Given the description of an element on the screen output the (x, y) to click on. 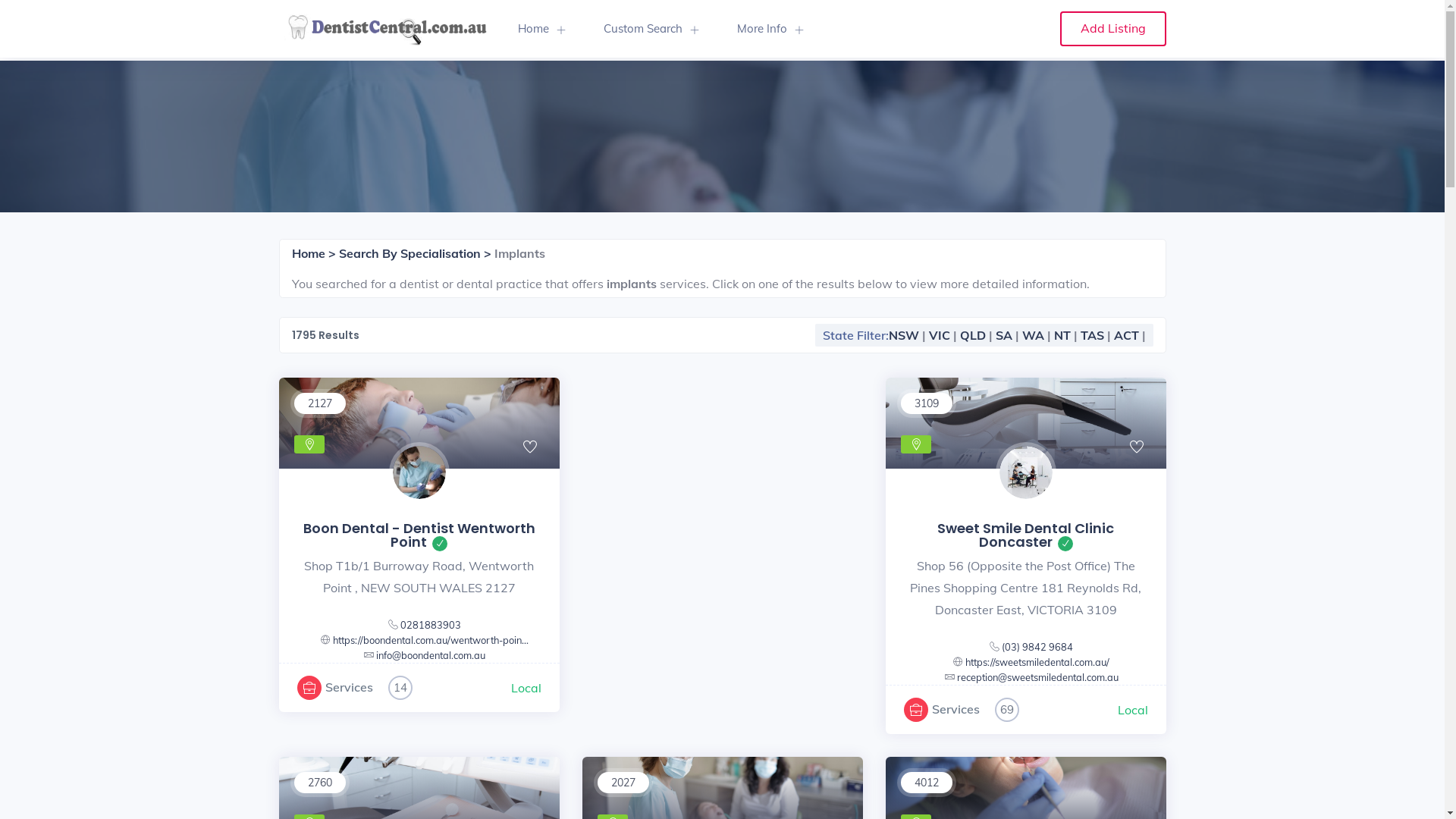
Sweet Smile Dental Clinic Doncaster Element type: text (1025, 534)
More Info Element type: text (769, 28)
reception@sweetsmiledental.com.au Element type: text (1037, 677)
0281883903 Element type: text (430, 624)
Add Listing Element type: text (1113, 28)
SA Element type: text (1002, 334)
(03) 9842 9684 Element type: text (1037, 646)
Home Element type: text (541, 28)
https://boondental.com.au/wentworth-poin... Element type: text (430, 639)
Advertisement Element type: hover (722, 483)
info@boondental.com.au Element type: text (430, 655)
Custom Search Element type: text (650, 28)
https://sweetsmiledental.com.au/ Element type: text (1037, 661)
QLD Element type: text (972, 334)
Services Element type: text (348, 686)
Search By Specialisation > Element type: text (414, 252)
Home > Element type: text (314, 252)
NSW Element type: text (903, 334)
VIC Element type: text (938, 334)
NT Element type: text (1062, 334)
ACT Element type: text (1125, 334)
WA Element type: text (1033, 334)
Boon Dental - Dentist Wentworth Point Element type: text (419, 534)
Services Element type: text (955, 708)
TAS Element type: text (1091, 334)
